Given the description of an element on the screen output the (x, y) to click on. 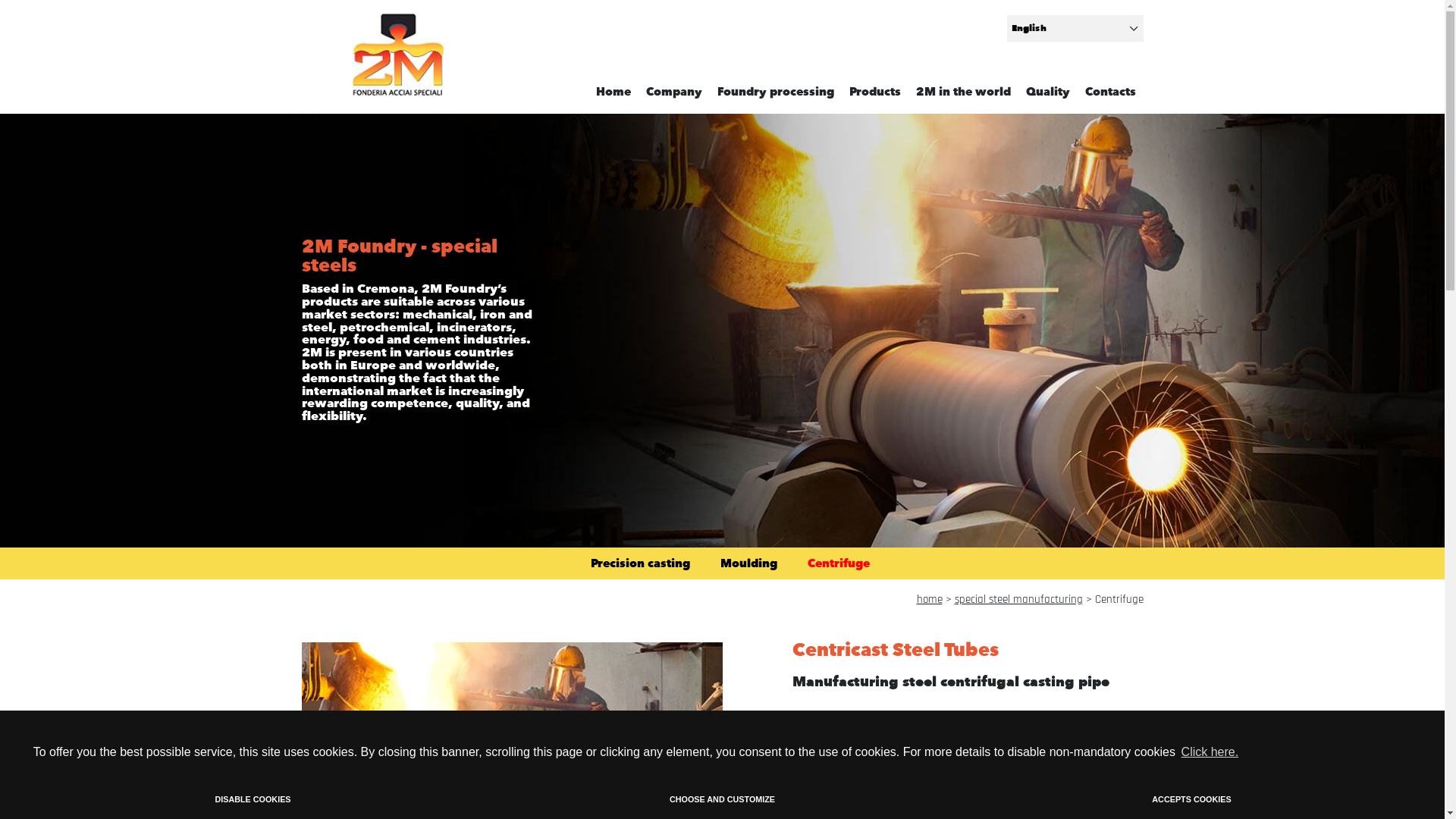
ACCEPTS COOKIES Element type: text (1191, 799)
Products Element type: text (874, 91)
Quality Element type: text (1046, 91)
home Element type: text (928, 598)
Centrifuge Element type: text (837, 563)
2M in the world Element type: text (963, 91)
CHOOSE AND CUSTOMIZE Element type: text (722, 799)
Click here. Element type: text (1209, 751)
Company Element type: text (673, 91)
Contacts Element type: text (1109, 91)
DISABLE COOKIES Element type: text (253, 799)
Precision casting Element type: text (639, 563)
Home Element type: text (613, 91)
special steel manufacturing Element type: text (1017, 598)
Moulding Element type: text (748, 563)
Foundry processing Element type: text (775, 91)
